Given the description of an element on the screen output the (x, y) to click on. 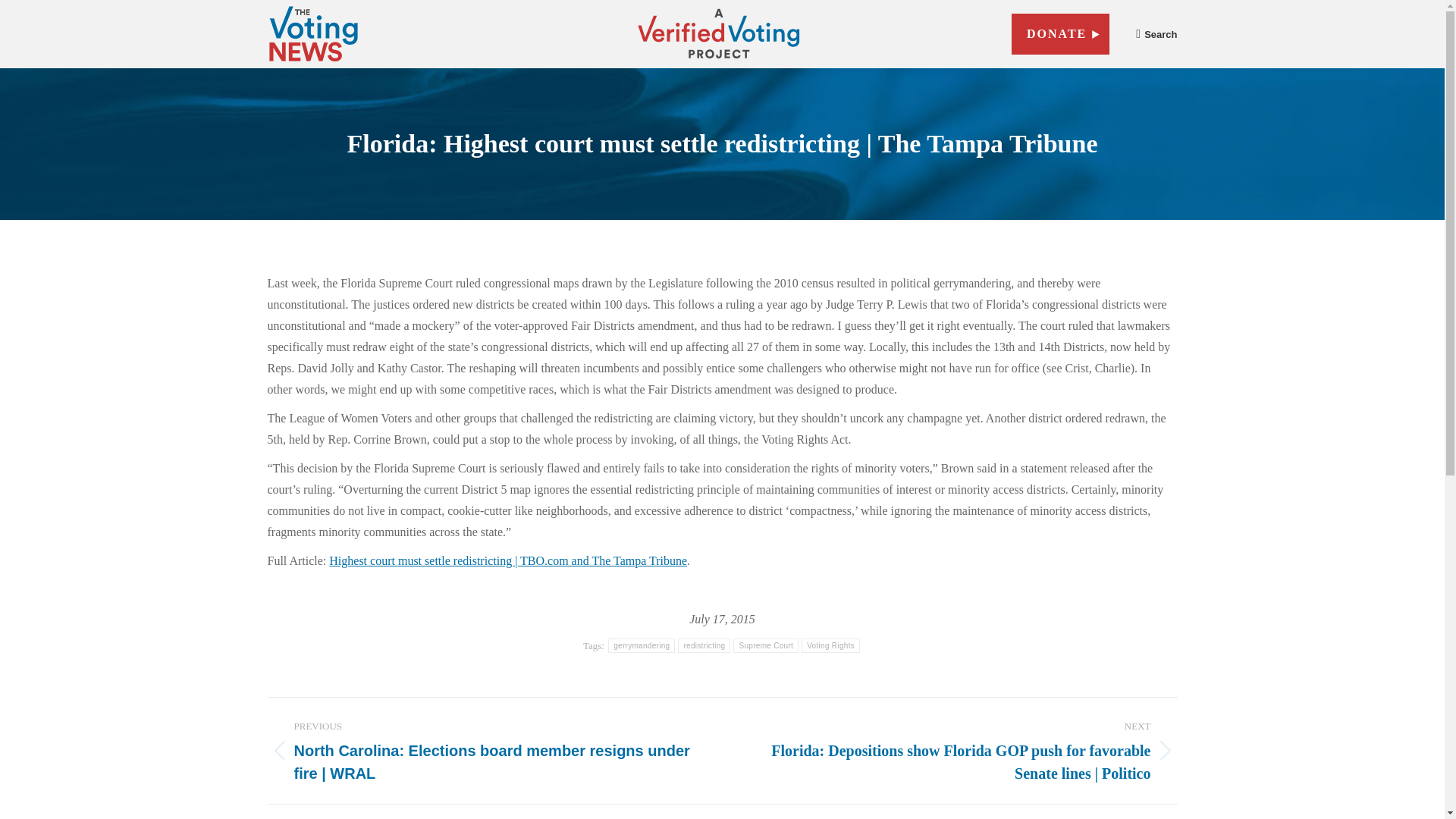
Go! (1155, 80)
gerrymandering (641, 645)
Voting Rights (831, 645)
Search (1155, 33)
01:08 (721, 618)
July 17, 2015 (721, 618)
Go! (1155, 80)
redistricting (704, 645)
Supreme Court (765, 645)
DONATE (1060, 33)
Go! (1155, 80)
